Given the description of an element on the screen output the (x, y) to click on. 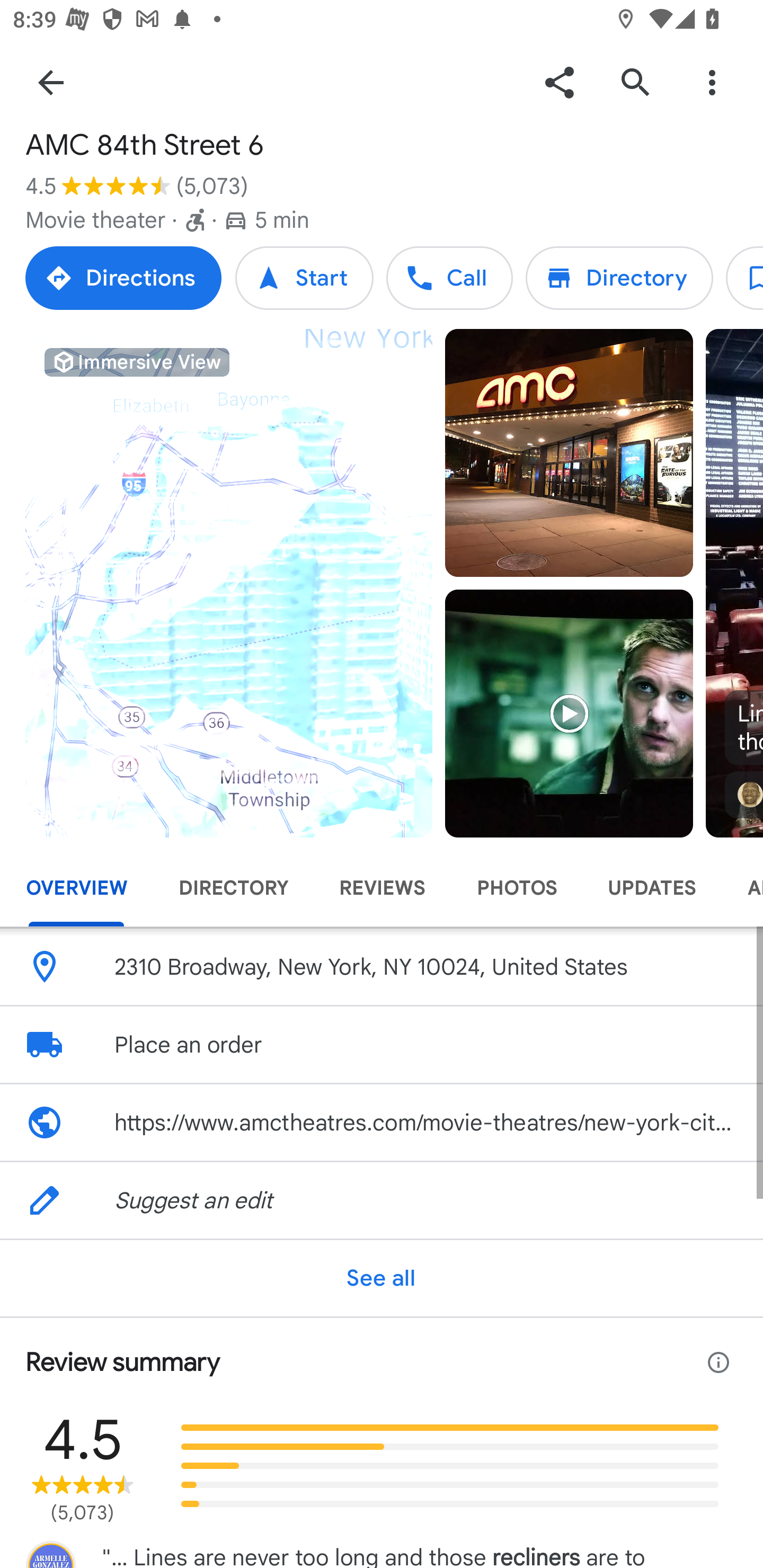
Back to Search (50, 81)
Share (559, 81)
Search (635, 81)
More options for AMC 84th Street 6 (711, 81)
Start Start Start (304, 277)
Directory Directory Directory (619, 277)
Video Immersive View (228, 583)
Photo (568, 453)
Video (568, 713)
DIRECTORY Directory (232, 887)
REVIEWS Reviews (381, 887)
PHOTOS Photos (516, 887)
UPDATES Updates (651, 887)
Place an order (381, 1044)
Suggest an edit (381, 1199)
